Given the description of an element on the screen output the (x, y) to click on. 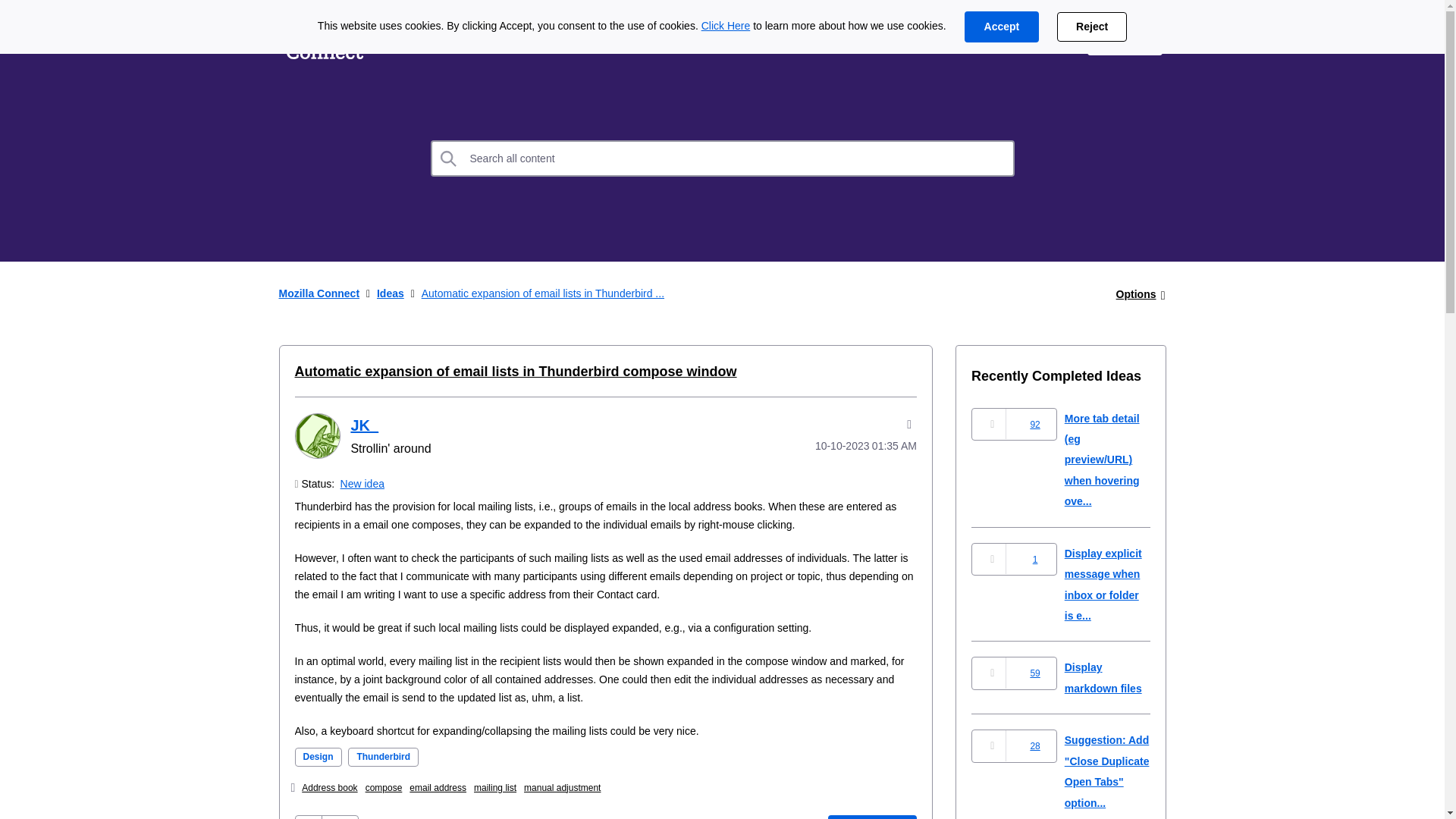
email address (437, 787)
Discussions (500, 39)
Design (317, 756)
Reject (1091, 26)
Options (1136, 294)
Click here to give kudos to this post. (307, 817)
Community (607, 39)
Search (448, 158)
Accept (1001, 26)
